Given the description of an element on the screen output the (x, y) to click on. 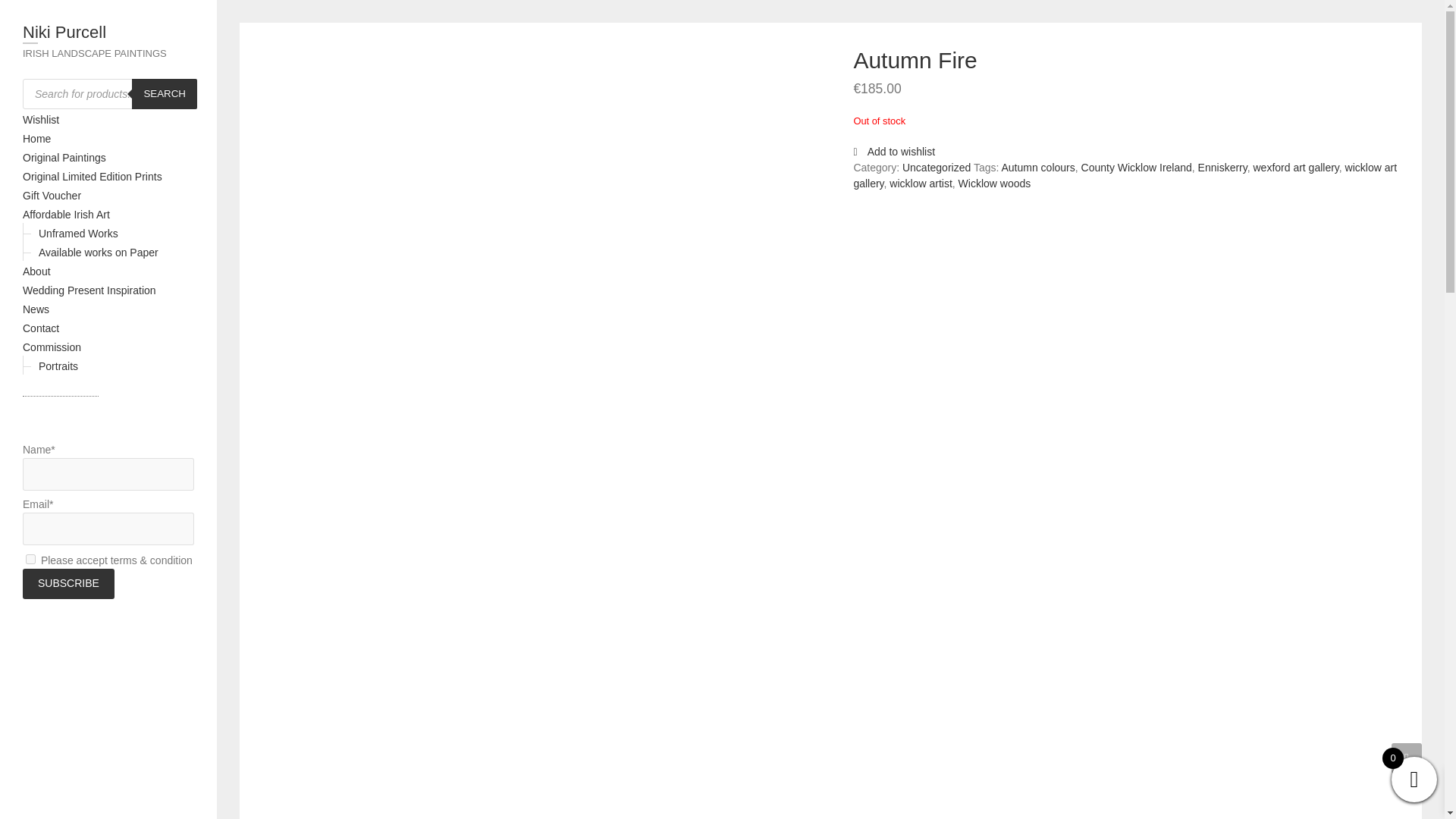
Autumn colours (1037, 167)
Contact (41, 328)
wexford art gallery (1295, 167)
Available works on Paper (98, 252)
Home (36, 138)
About (36, 271)
Wishlist (41, 119)
Niki Purcell (108, 34)
Unframed Works (78, 233)
Go to Top (1406, 757)
Affordable Irish Art (66, 214)
wicklow art gallery (1124, 175)
Enniskerry (1222, 167)
Uncategorized (936, 167)
Portraits (58, 366)
